Given the description of an element on the screen output the (x, y) to click on. 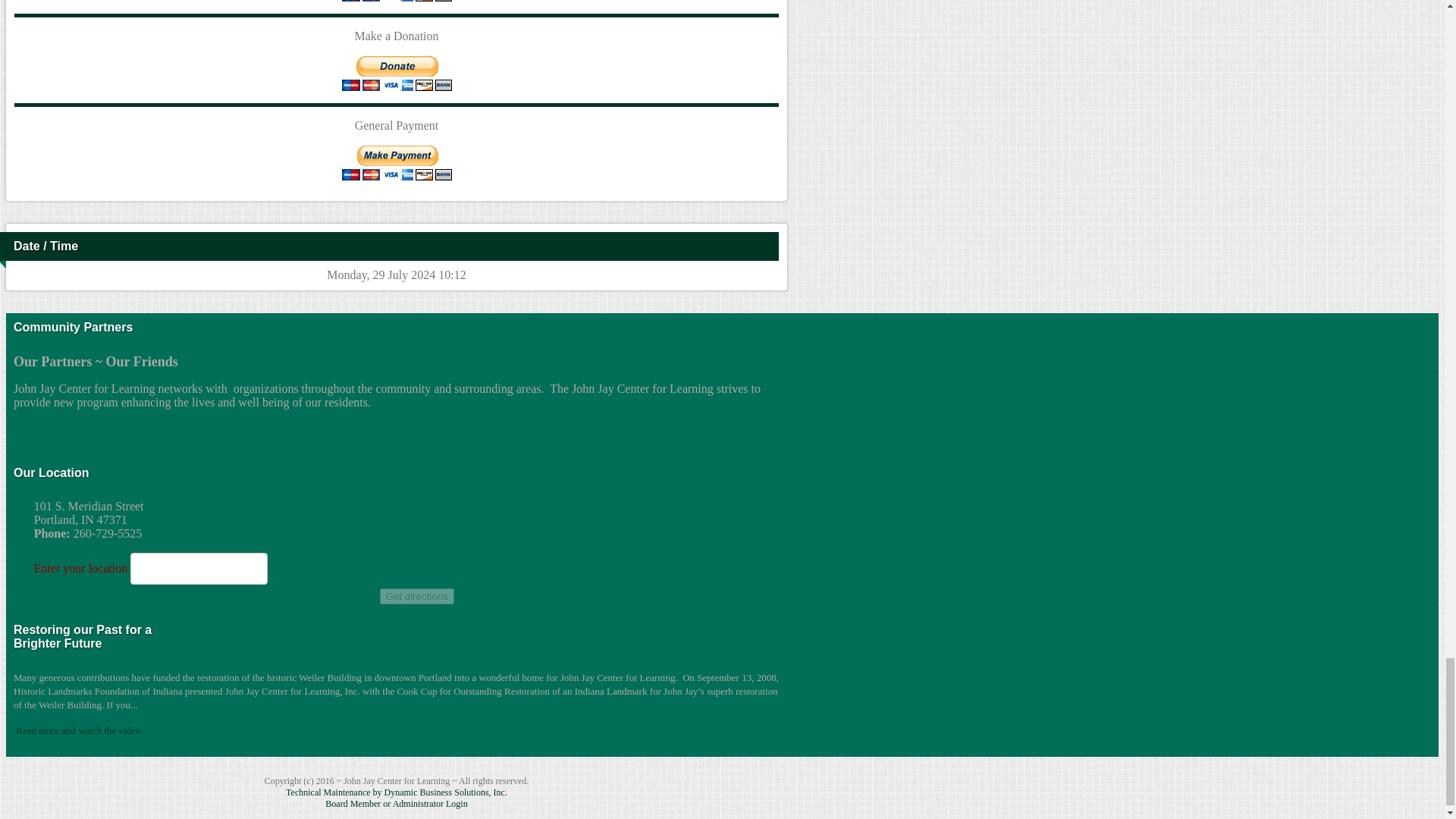
Get directions (417, 596)
